Given the description of an element on the screen output the (x, y) to click on. 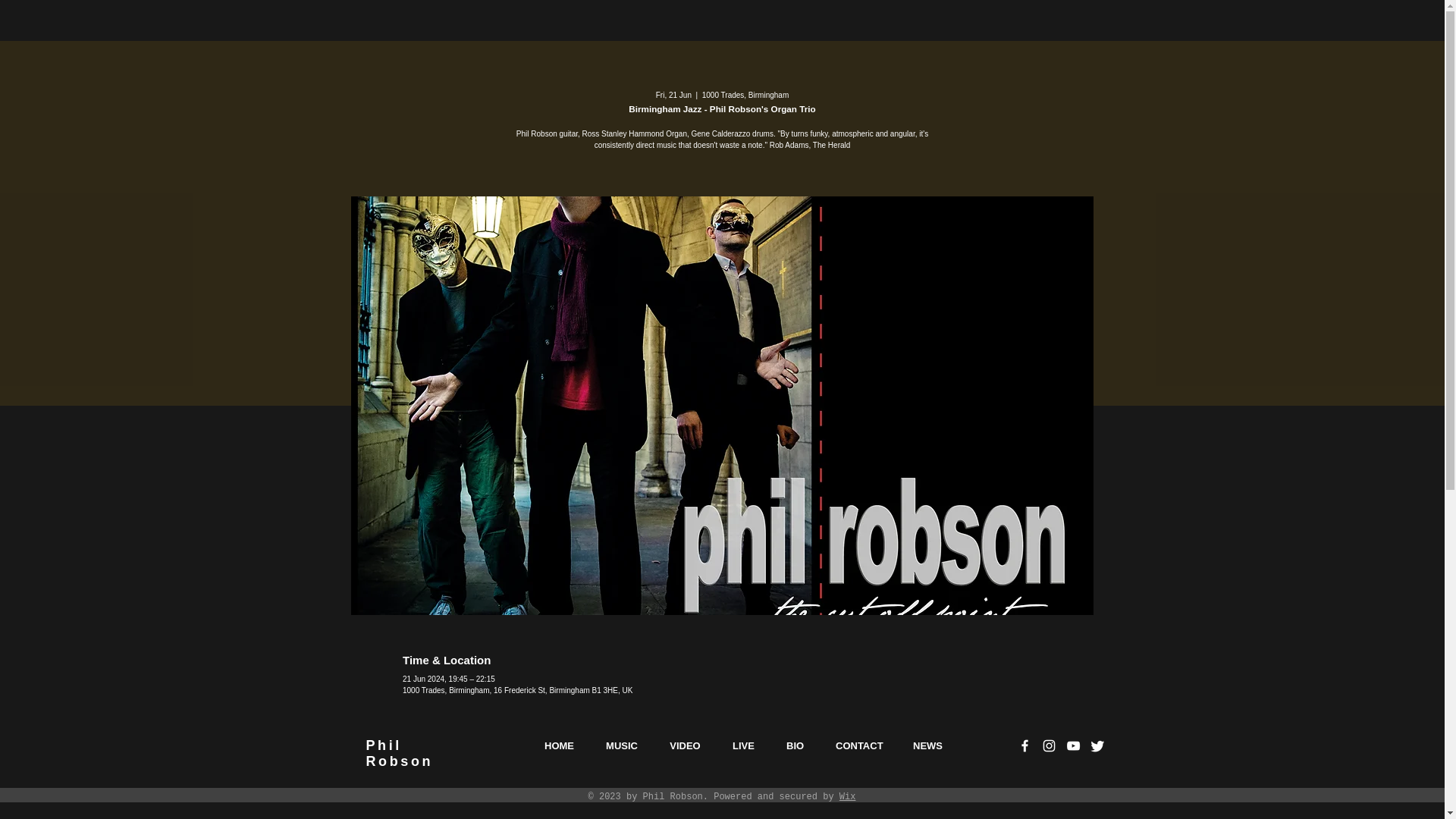
Wix (848, 796)
HOME (558, 745)
CONTACT (857, 745)
LIVE (743, 745)
VIDEO (684, 745)
MUSIC (621, 745)
1000trades.org.uk (398, 753)
NEWS (433, 778)
BIO (927, 745)
